Given the description of an element on the screen output the (x, y) to click on. 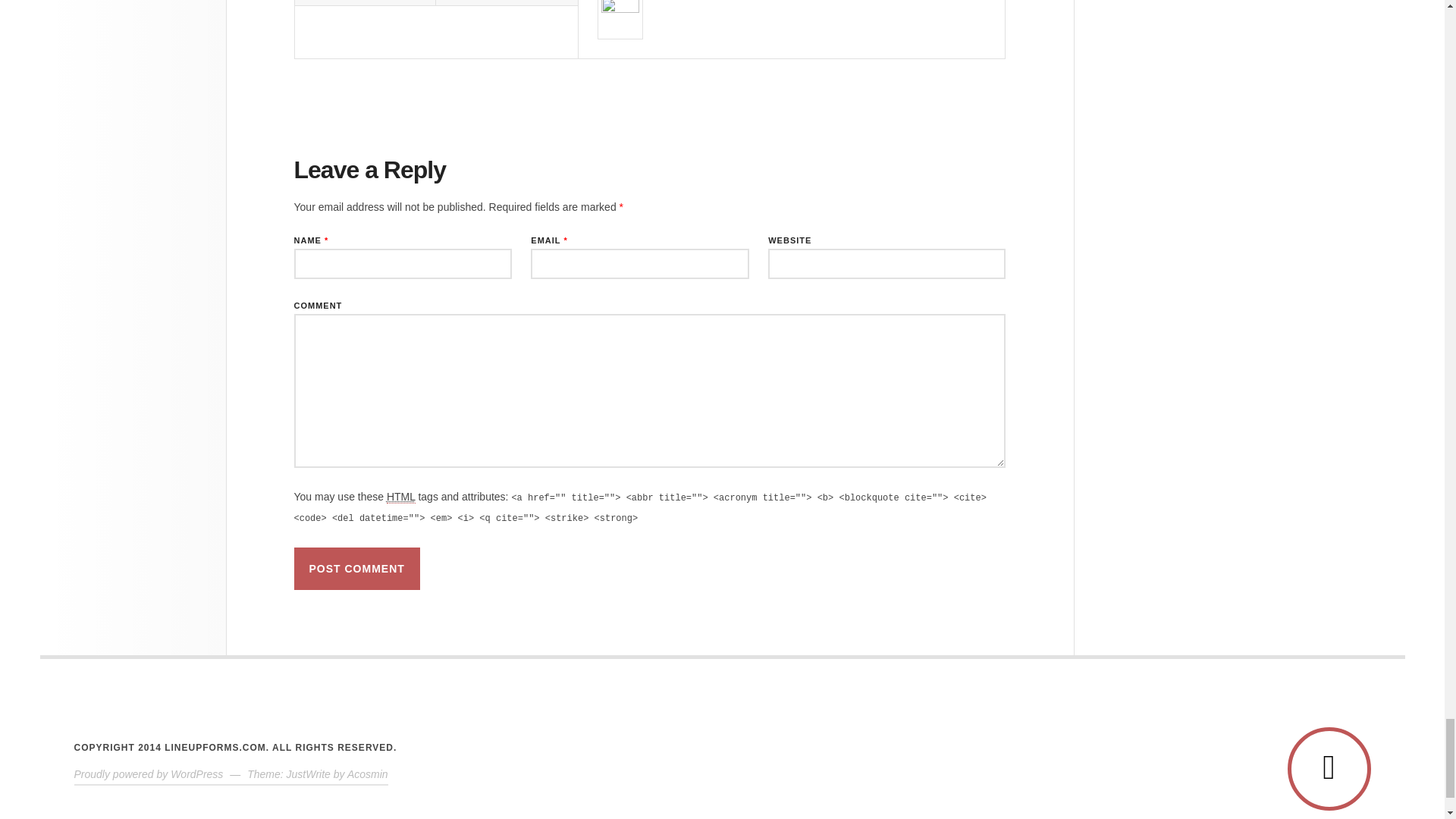
Post Comment (357, 568)
Post Comment (357, 568)
HyperText Markup Language (400, 496)
